Given the description of an element on the screen output the (x, y) to click on. 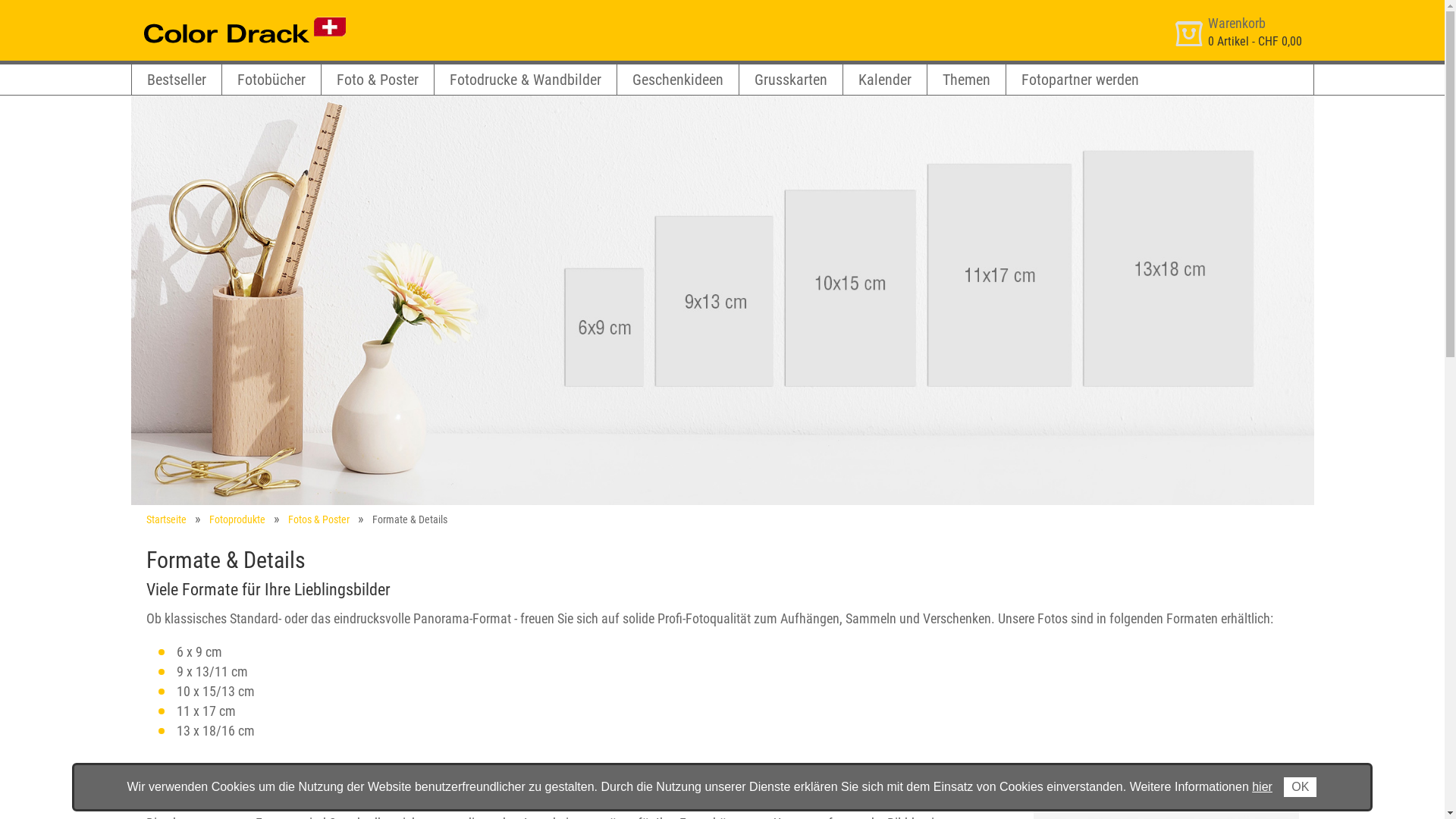
OK Element type: text (1300, 786)
Foto & Poster Element type: text (377, 79)
Fotopartner werden Element type: text (1079, 79)
Fotoprodukte Element type: text (237, 519)
Bestseller Element type: text (176, 79)
Fotos & Poster -
Informationen zu Formaten, 2:3 und mehr Element type: hover (721, 300)
hier Element type: text (1262, 786)
Warenkorb
0 Artikel - CHF 0,00 Element type: text (1241, 30)
Fotos & Poster Element type: text (318, 519)
Startseite Element type: text (165, 519)
Themen Element type: text (965, 79)
Kalender Element type: text (884, 79)
Geschenkideen Element type: text (677, 79)
Grusskarten Element type: text (789, 79)
Fotodrucke & Wandbilder Element type: text (524, 79)
